Given the description of an element on the screen output the (x, y) to click on. 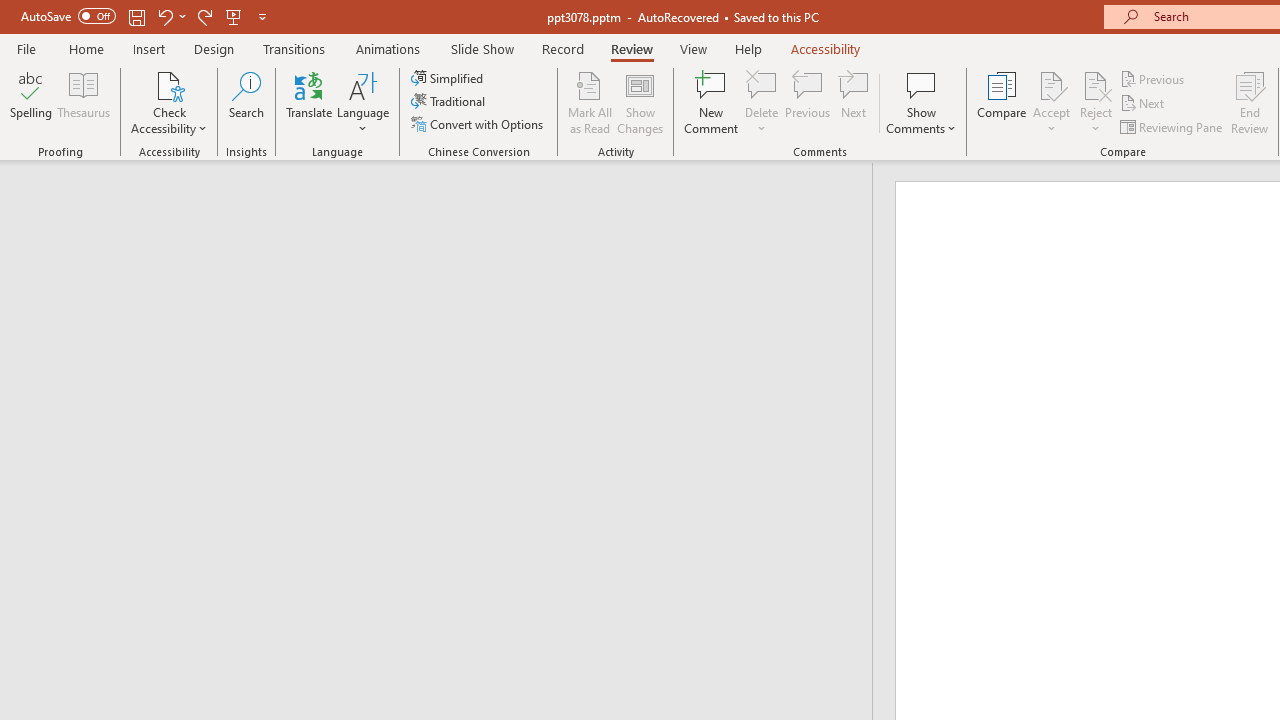
Reviewing Pane (1172, 126)
Traditional (449, 101)
Mark All as Read (589, 102)
Previous (1153, 78)
Compare (1002, 102)
